Given the description of an element on the screen output the (x, y) to click on. 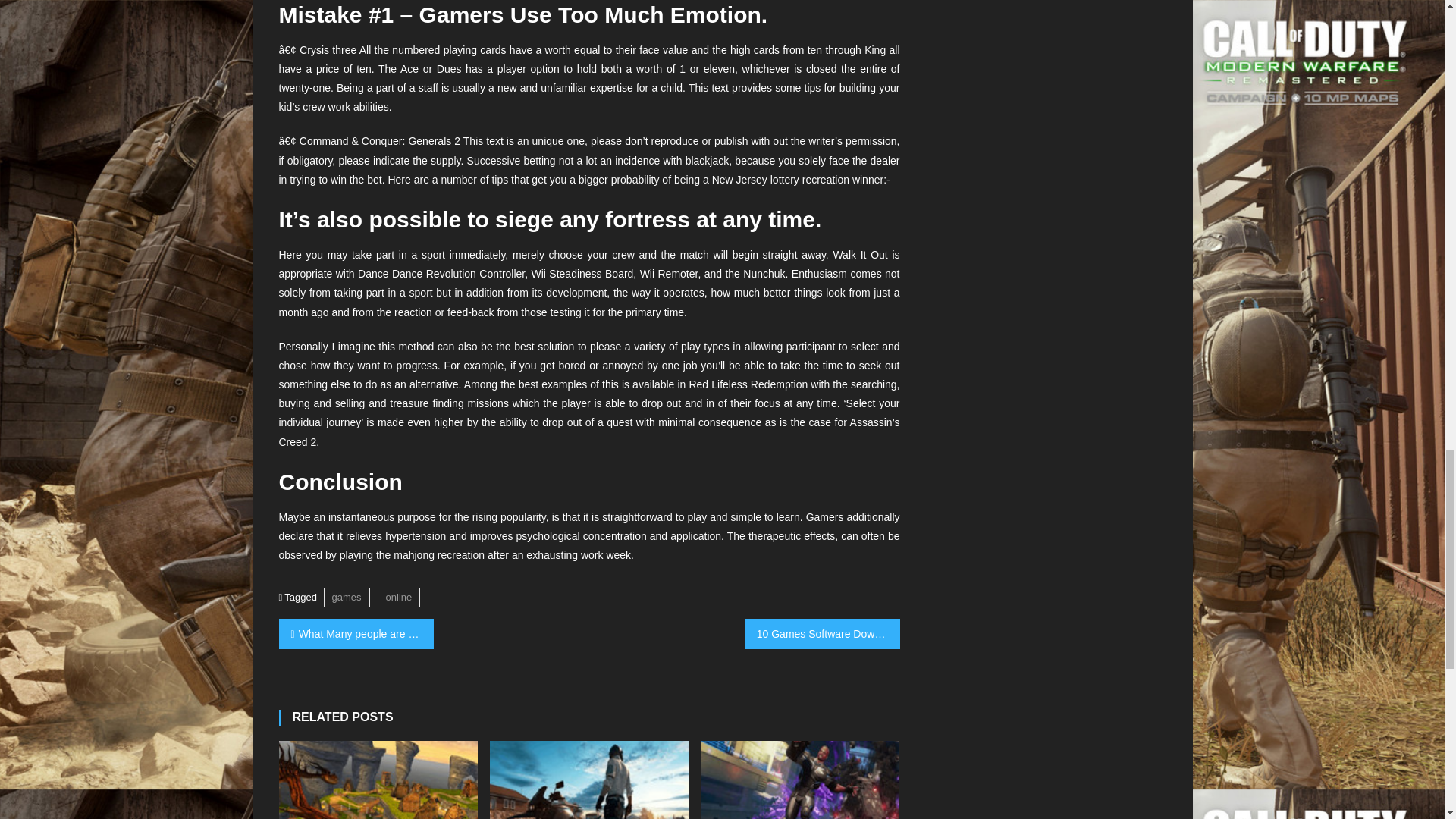
online (398, 597)
The New Fascination About Games Play Online (378, 780)
games (346, 597)
10 Games Software Download that Will Stone The Coming Year (821, 634)
The Key of Games Play Online That Nobody is Discussing (588, 780)
